Given the description of an element on the screen output the (x, y) to click on. 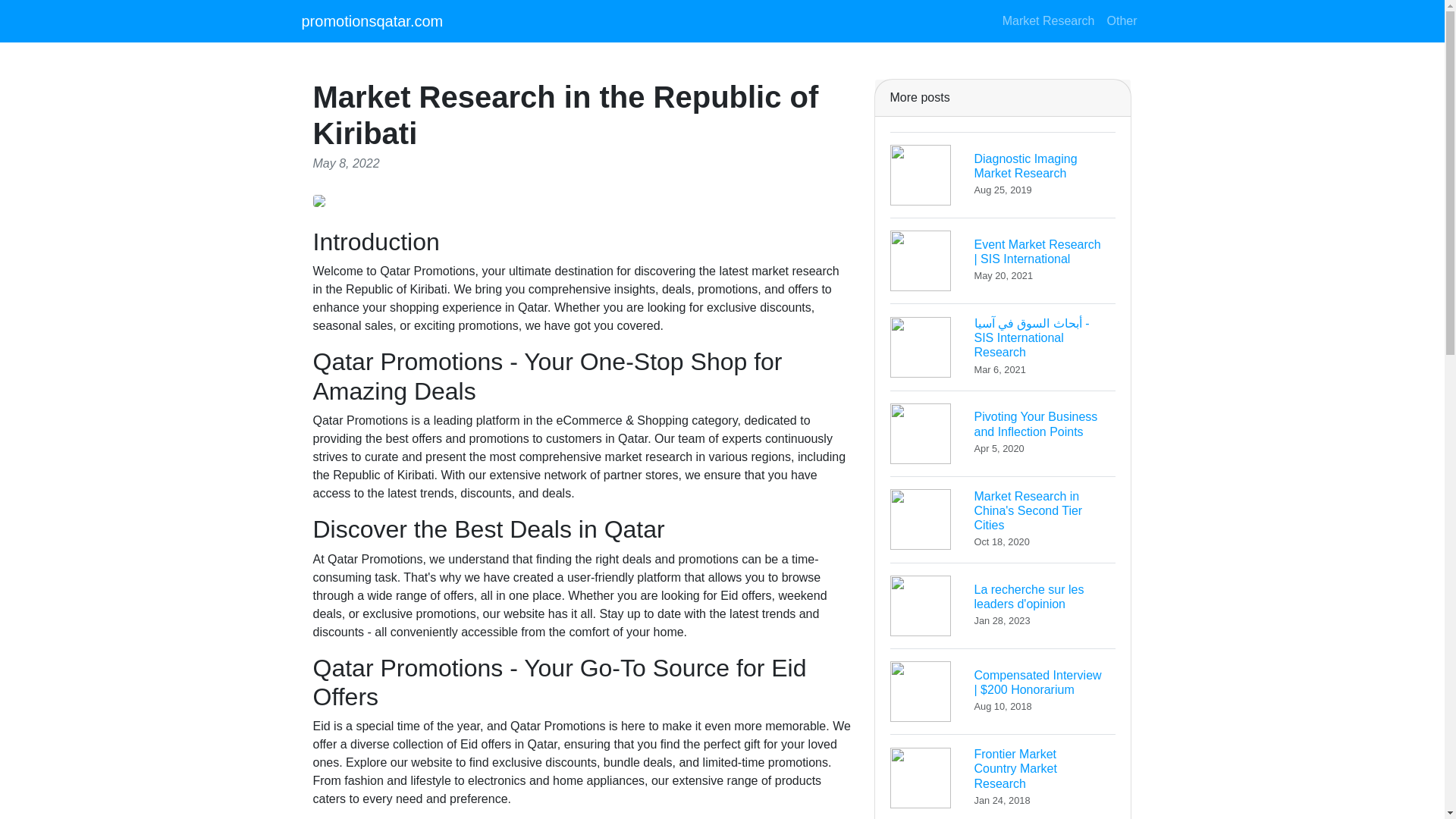
Other (1002, 605)
promotionsqatar.com (1002, 519)
Market Research (1002, 174)
